Given the description of an element on the screen output the (x, y) to click on. 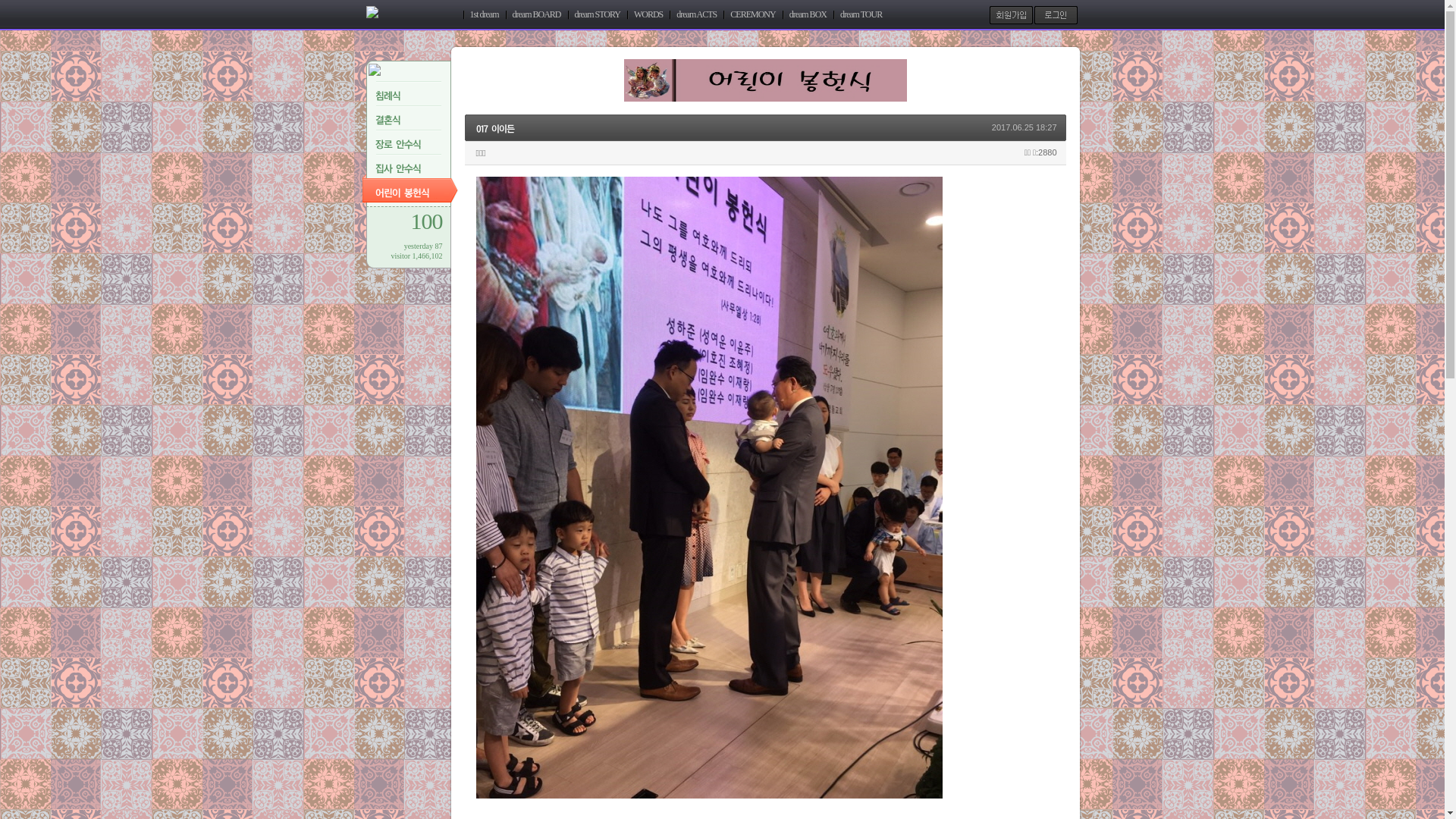
dream ACTS Element type: text (695, 14)
dream BOARD Element type: text (535, 14)
WORDS Element type: text (647, 14)
dream STORY Element type: text (596, 14)
CEREMONY Element type: text (752, 14)
1st dream Element type: text (483, 14)
dream BOX Element type: text (807, 14)
dream TOUR Element type: text (860, 14)
